Given the description of an element on the screen output the (x, y) to click on. 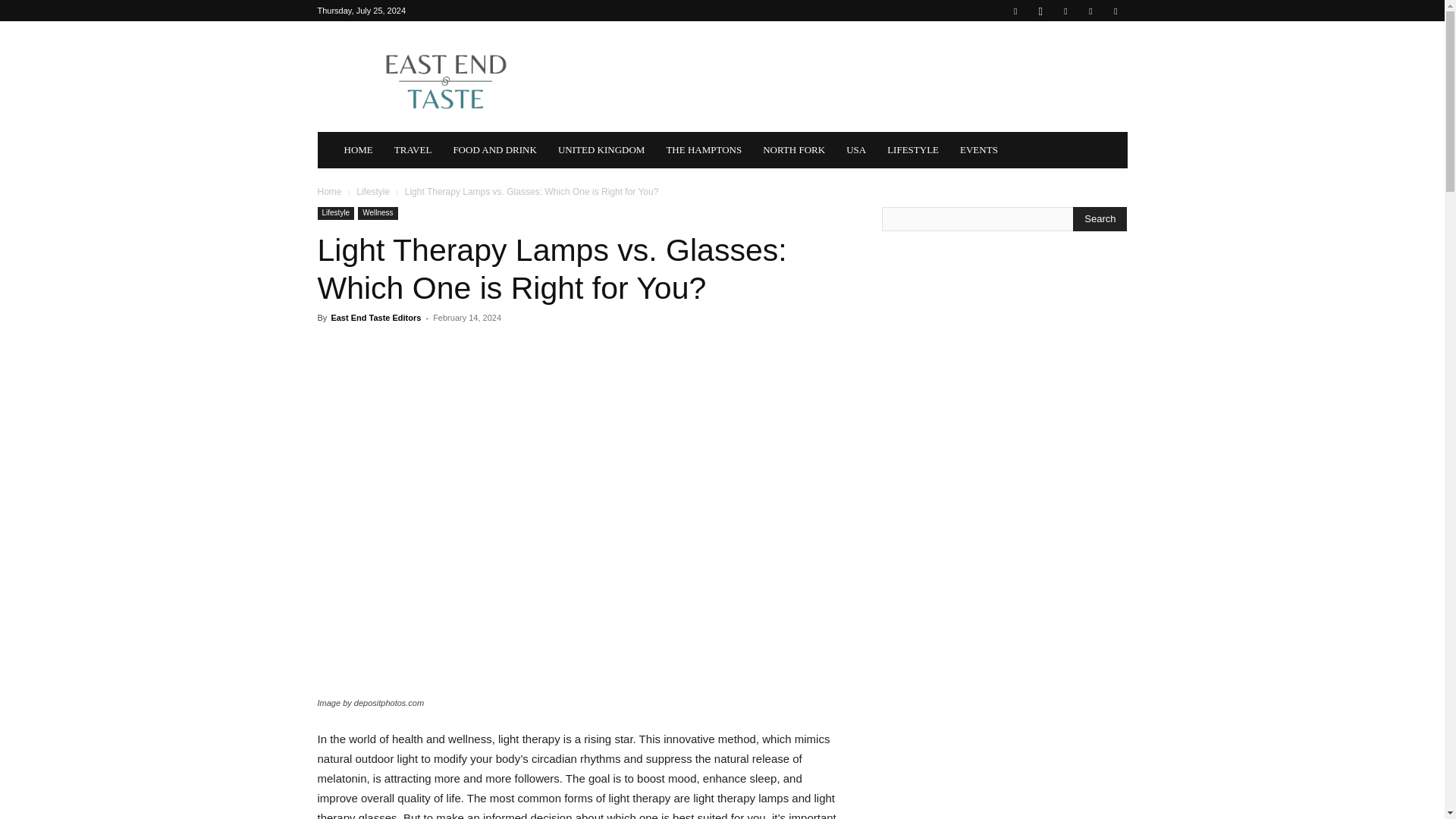
Twitter (1114, 10)
Facebook (1015, 10)
Pinterest (1065, 10)
Reddit (1090, 10)
Search (1099, 218)
Instagram (1040, 10)
